Given the description of an element on the screen output the (x, y) to click on. 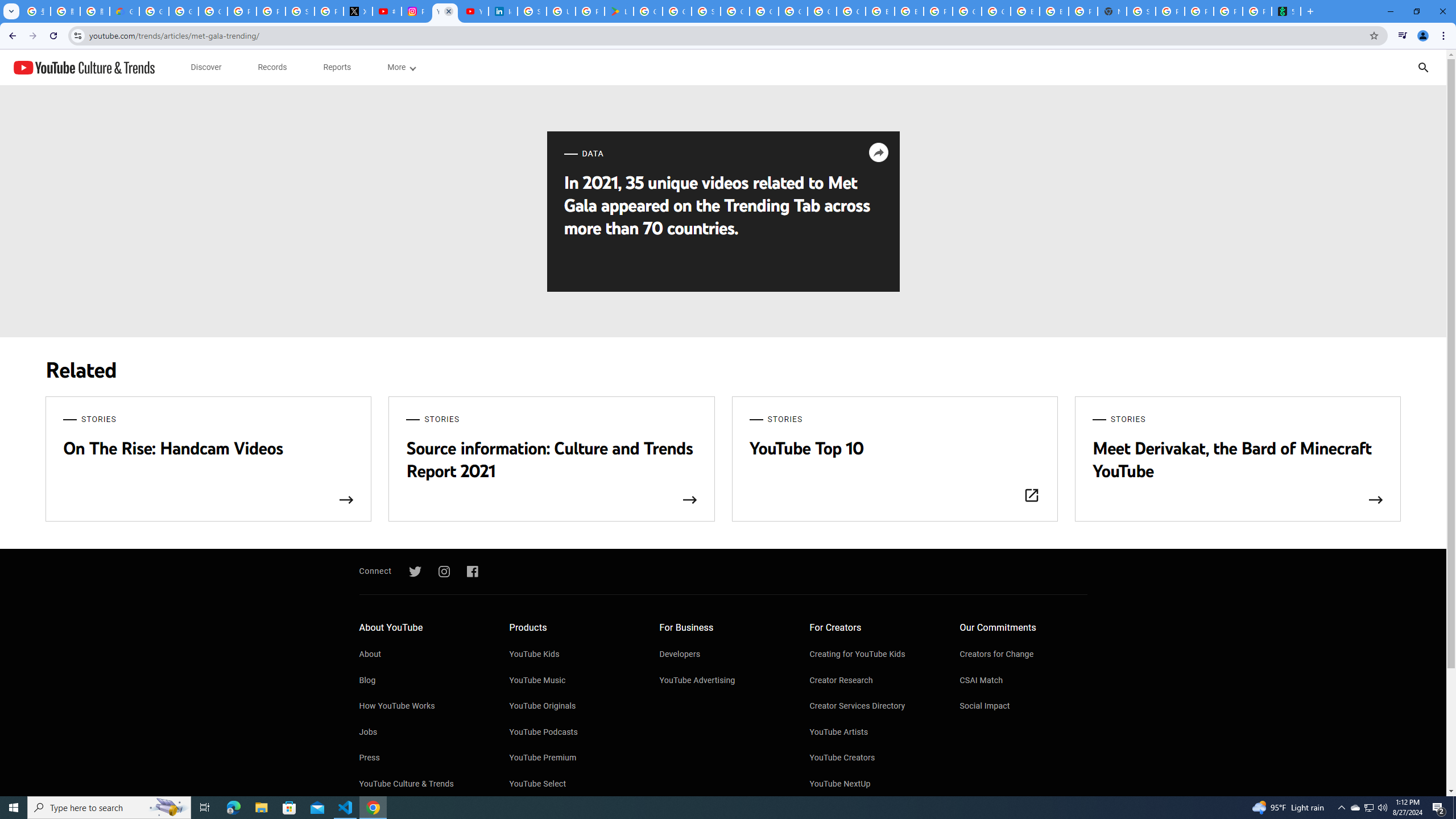
Jobs (422, 732)
Browse Chrome as a guest - Computer - Google Chrome Help (1025, 11)
Instagram (443, 571)
New Tab (1111, 11)
#nbabasketballhighlights - YouTube (386, 11)
YouTube Podcasts (573, 732)
How YouTube Works (422, 706)
